Given the description of an element on the screen output the (x, y) to click on. 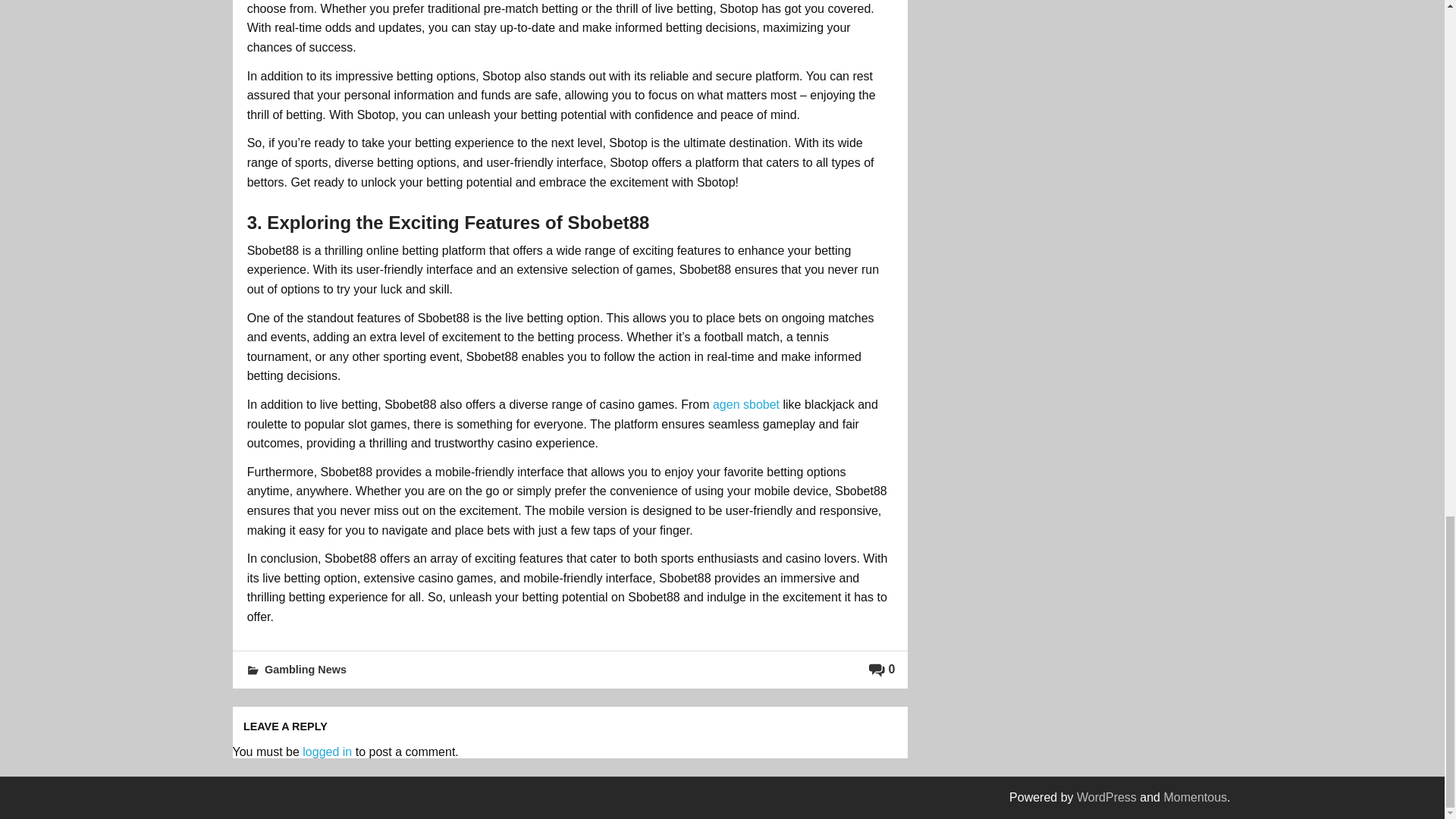
WordPress (1107, 797)
Momentous WordPress Theme (1195, 797)
Gambling News (305, 669)
0 (882, 668)
logged in (327, 751)
agen sbobet (745, 404)
